Given the description of an element on the screen output the (x, y) to click on. 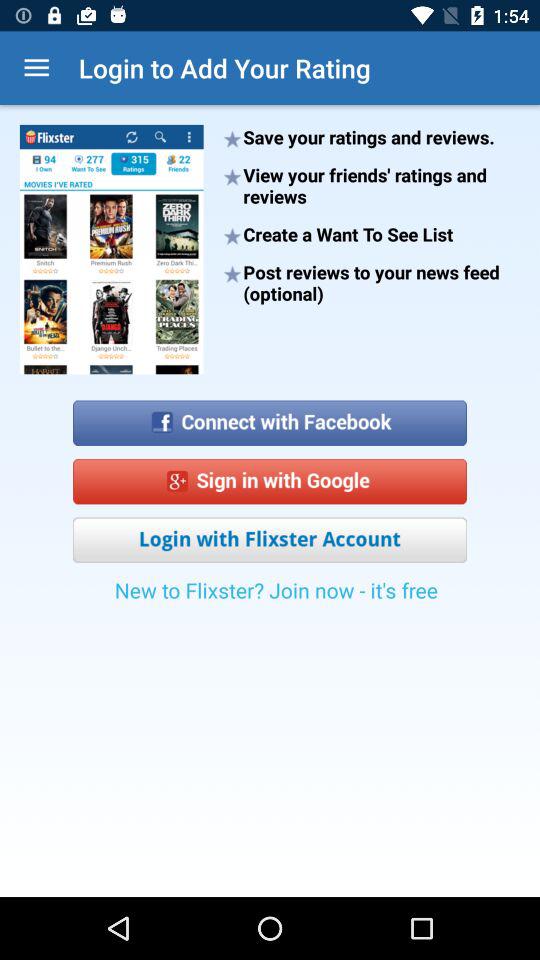
sign in (270, 481)
